Given the description of an element on the screen output the (x, y) to click on. 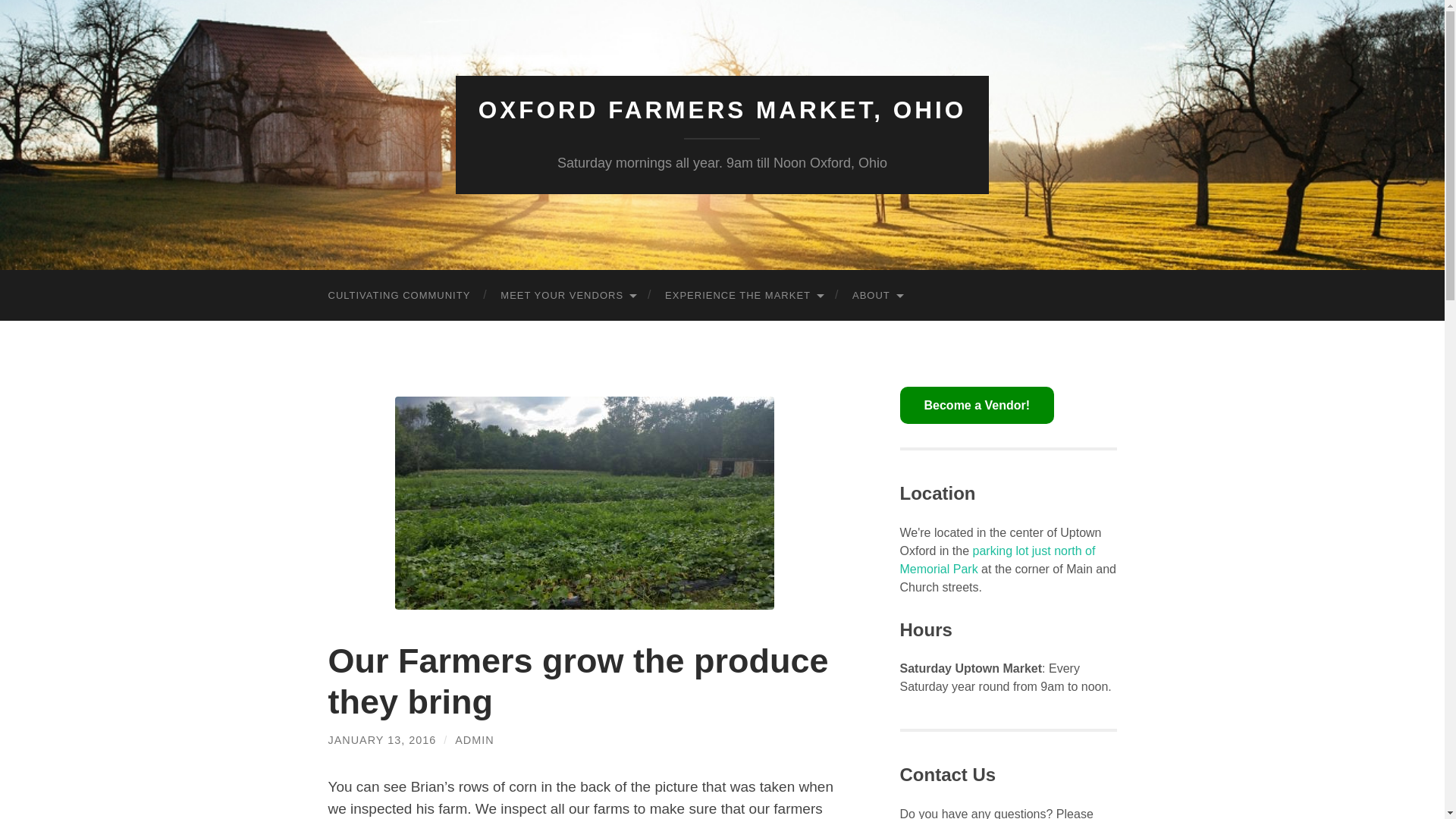
EXPERIENCE THE MARKET (743, 295)
CULTIVATING COMMUNITY (398, 295)
ABOUT (877, 295)
Posts by admin (473, 739)
OXFORD FARMERS MARKET, OHIO (722, 109)
MEET YOUR VENDORS (566, 295)
